Given the description of an element on the screen output the (x, y) to click on. 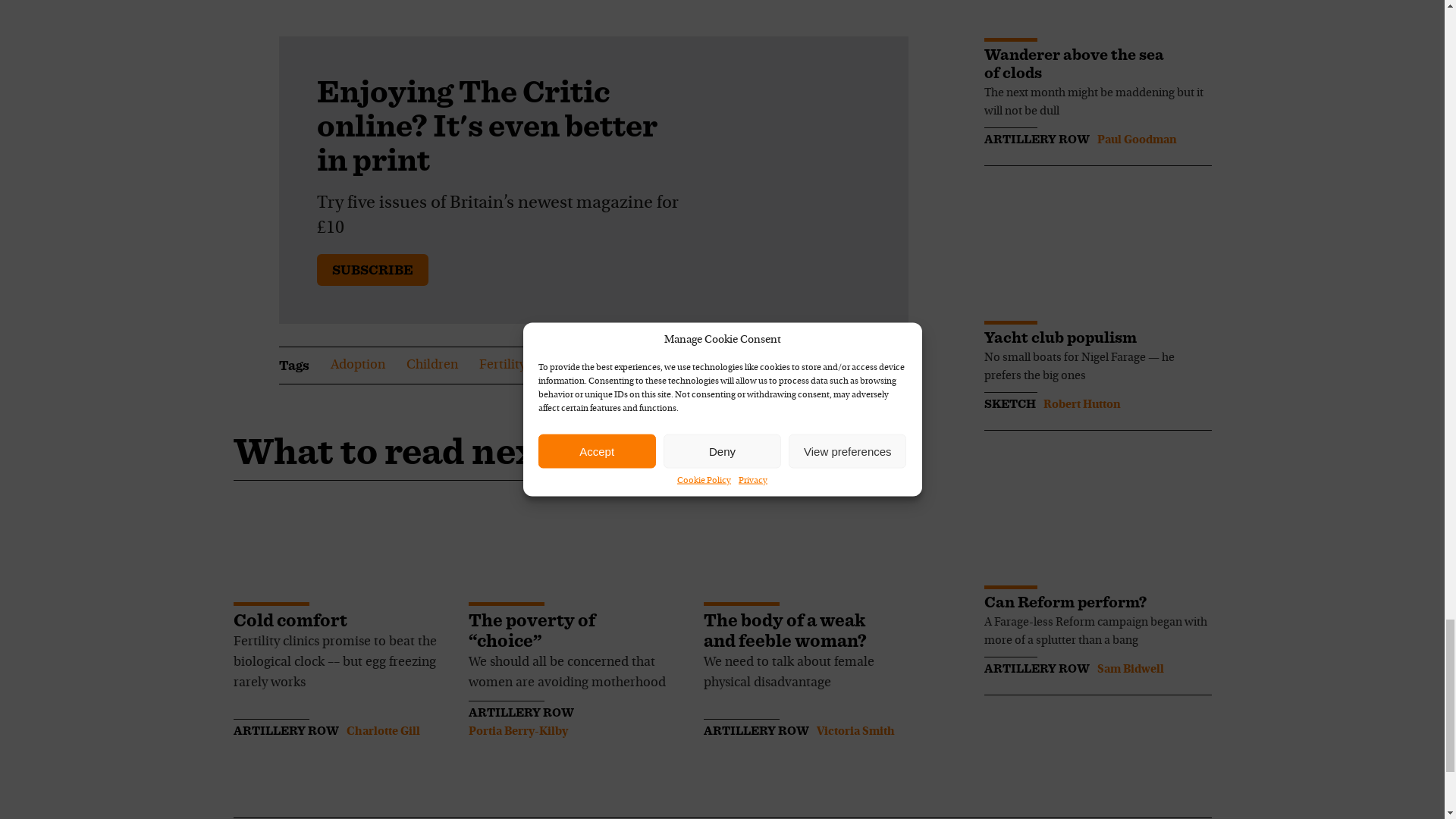
Posts by Robert Hutton (1082, 404)
Posts by Paul Goodman (1136, 140)
Posts by Victoria Smith (854, 731)
Posts by Portia Berry-Kilby (517, 731)
Posts by Sam Bidwell (1129, 669)
Posts by Charlotte Gill (382, 731)
